Given the description of an element on the screen output the (x, y) to click on. 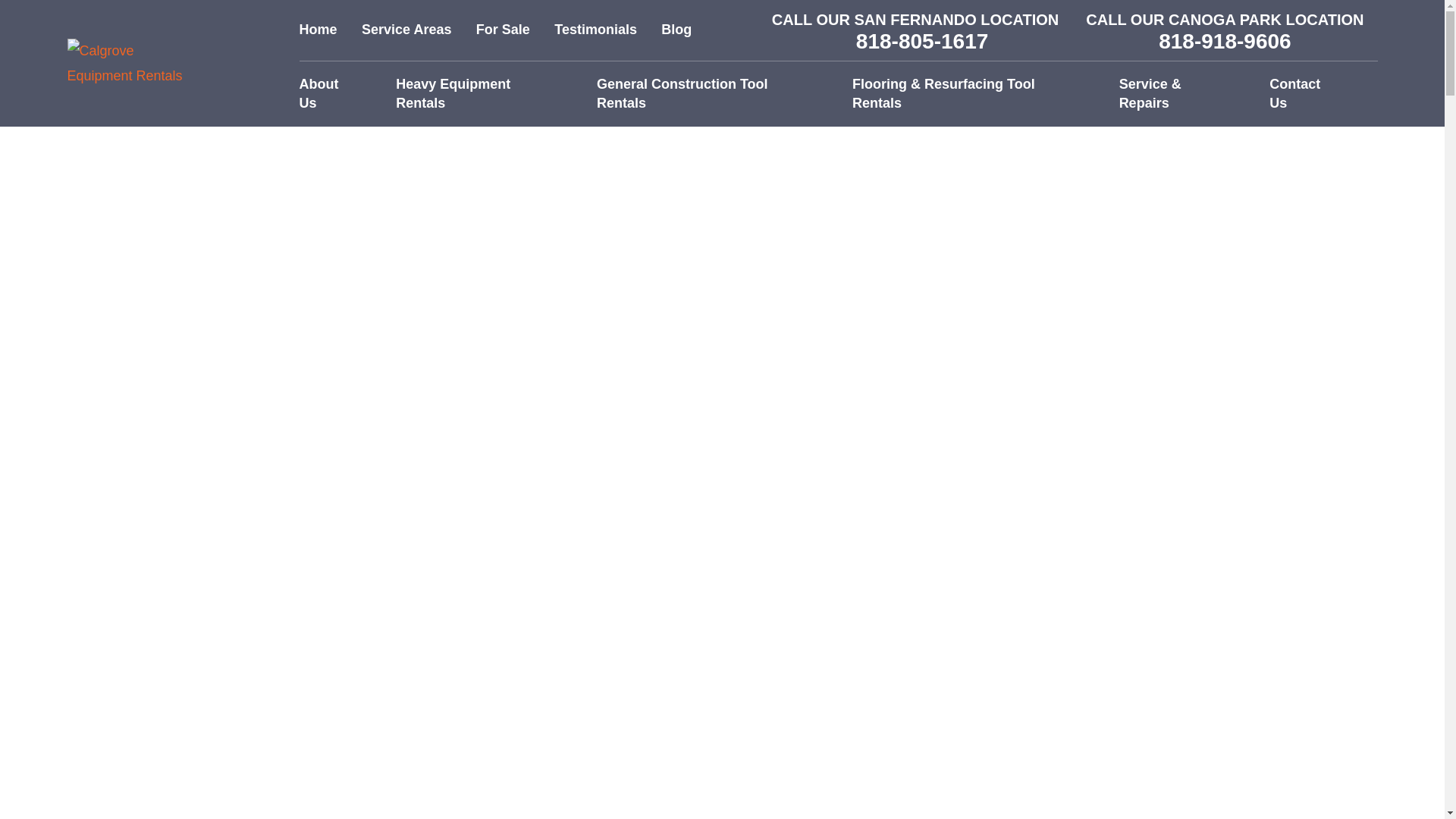
Home (130, 63)
818-918-9606 (1224, 41)
818-805-1617 (922, 41)
Home (318, 29)
For Sale (502, 29)
Blog (676, 29)
About Us (328, 94)
Testimonials (595, 29)
Service Areas (406, 29)
